Given the description of an element on the screen output the (x, y) to click on. 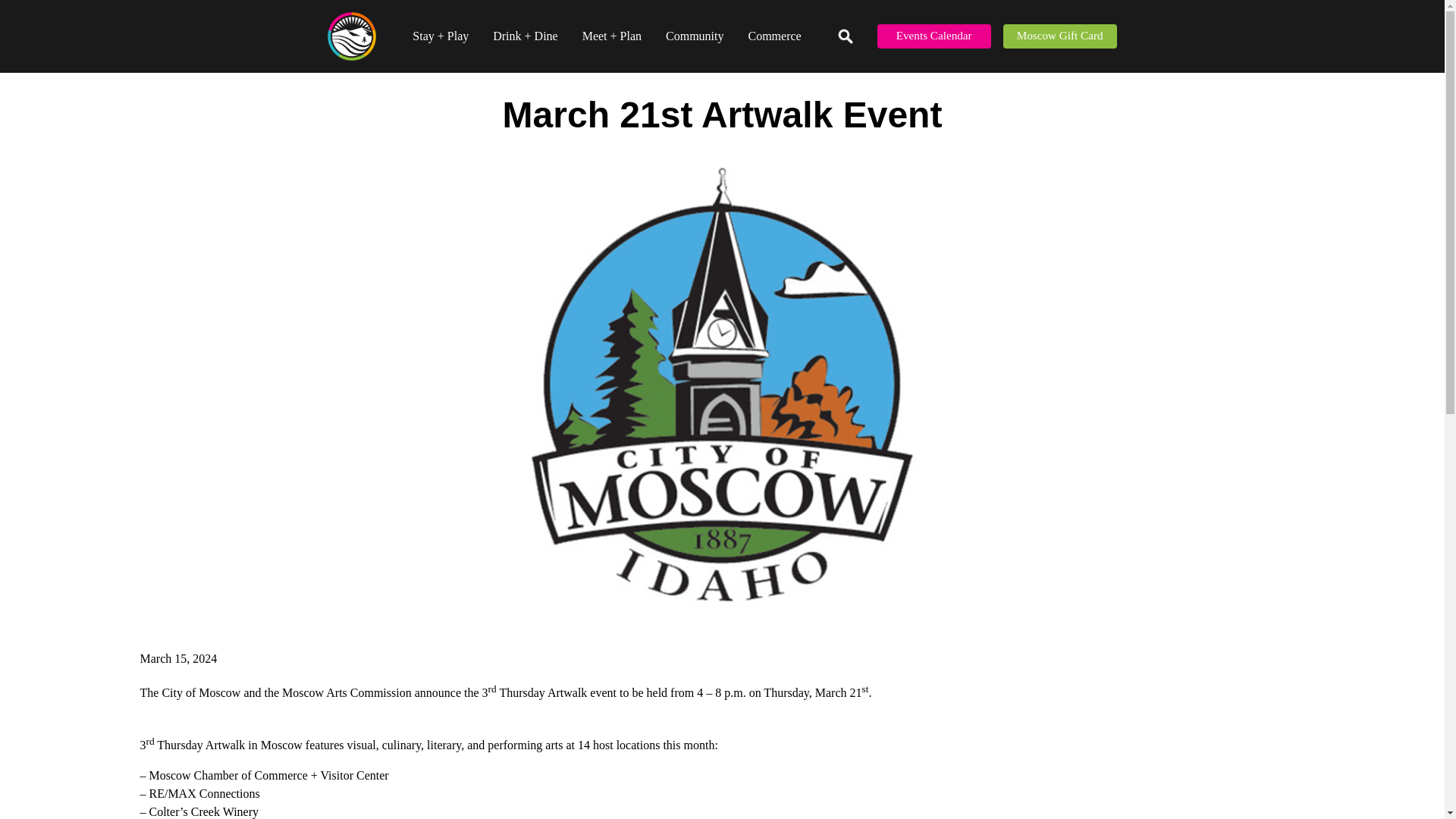
Moscow Gift Card (1059, 36)
Community (694, 36)
Commerce (773, 36)
Events Calendar (934, 36)
